Given the description of an element on the screen output the (x, y) to click on. 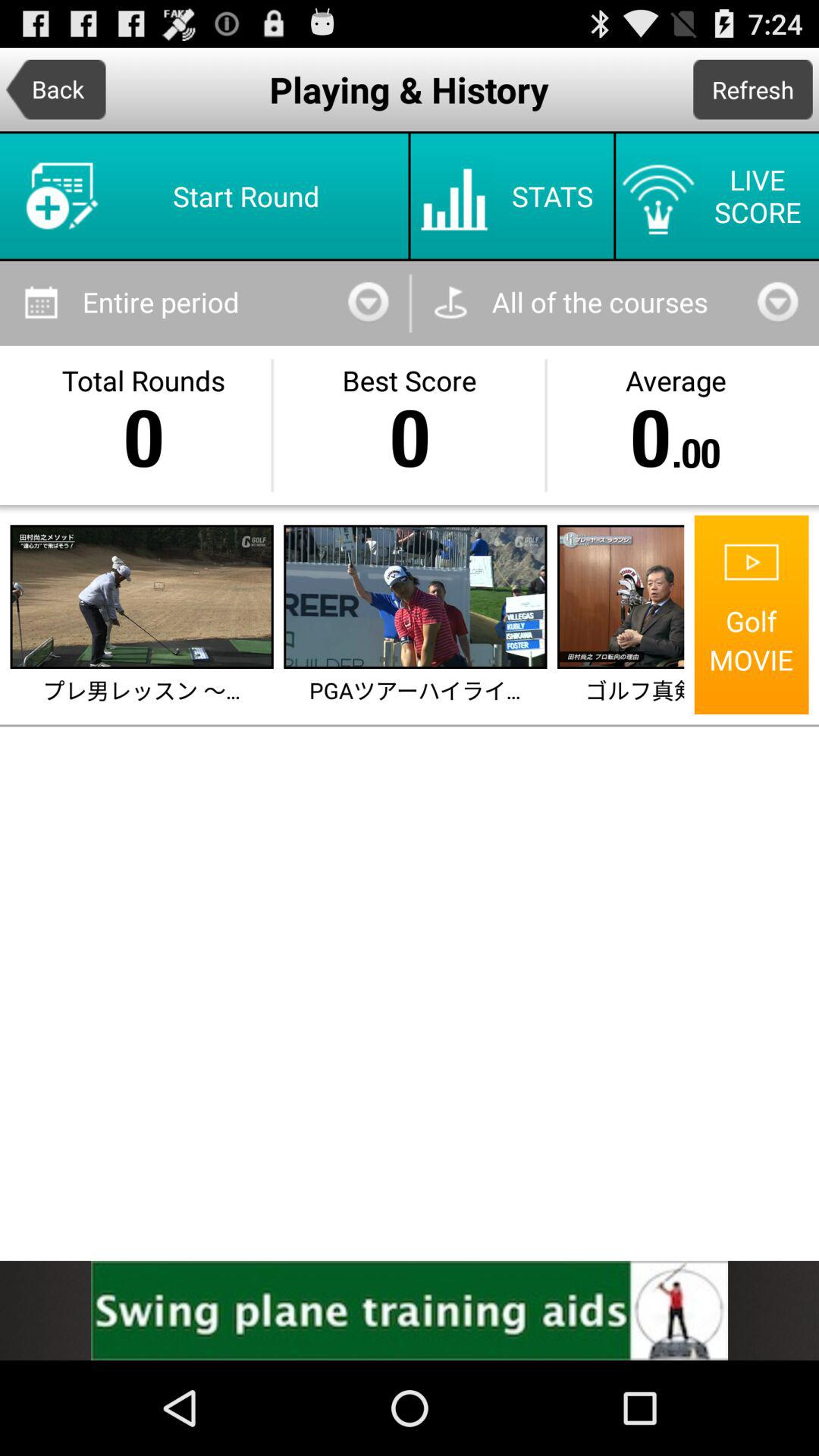
open movie (621, 596)
